Given the description of an element on the screen output the (x, y) to click on. 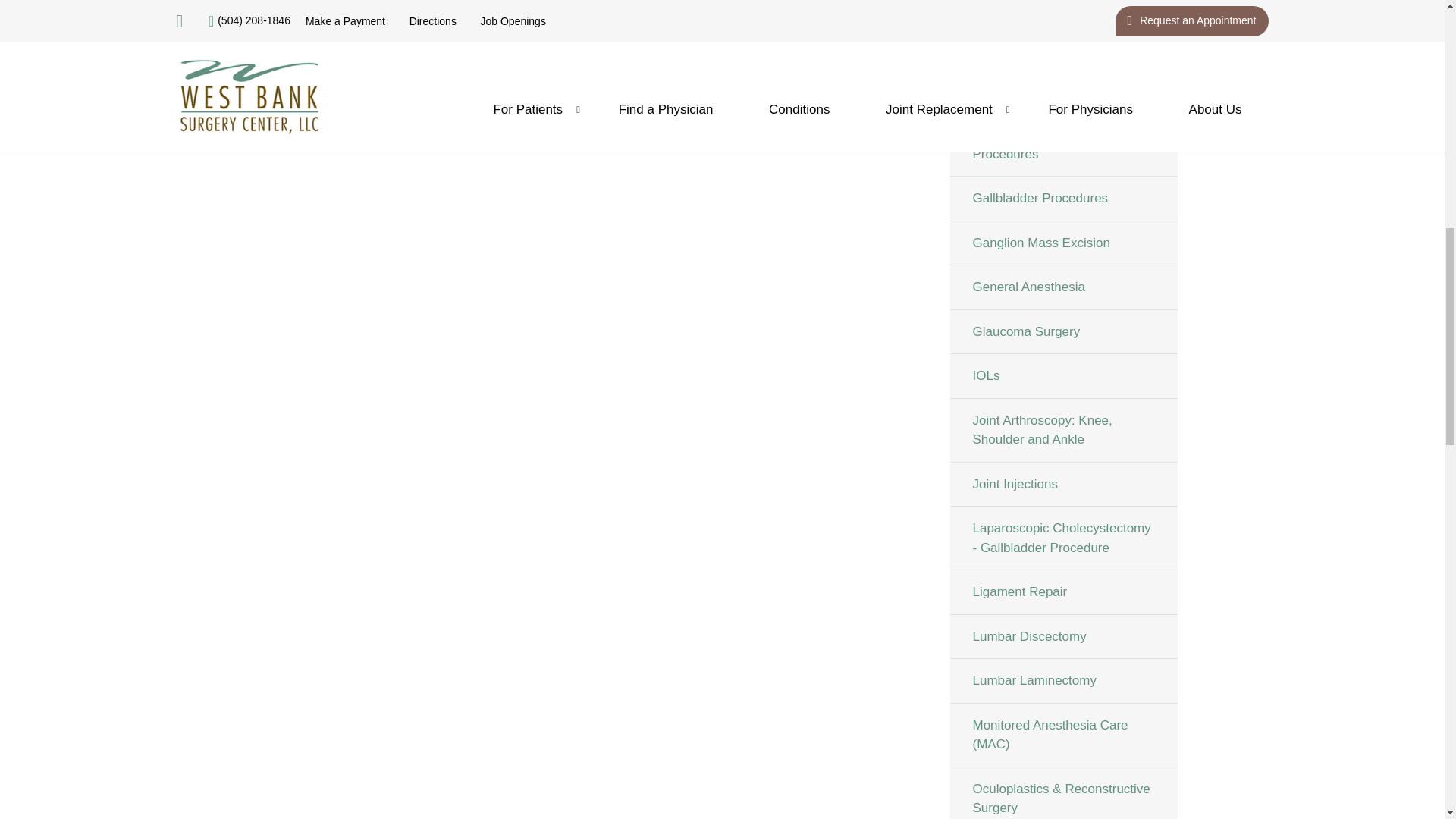
Epidural Steroid Injection (1062, 11)
Facet Joint Injections (1062, 90)
Eyelid Surgery for Aging Eyes (1062, 45)
